Given the description of an element on the screen output the (x, y) to click on. 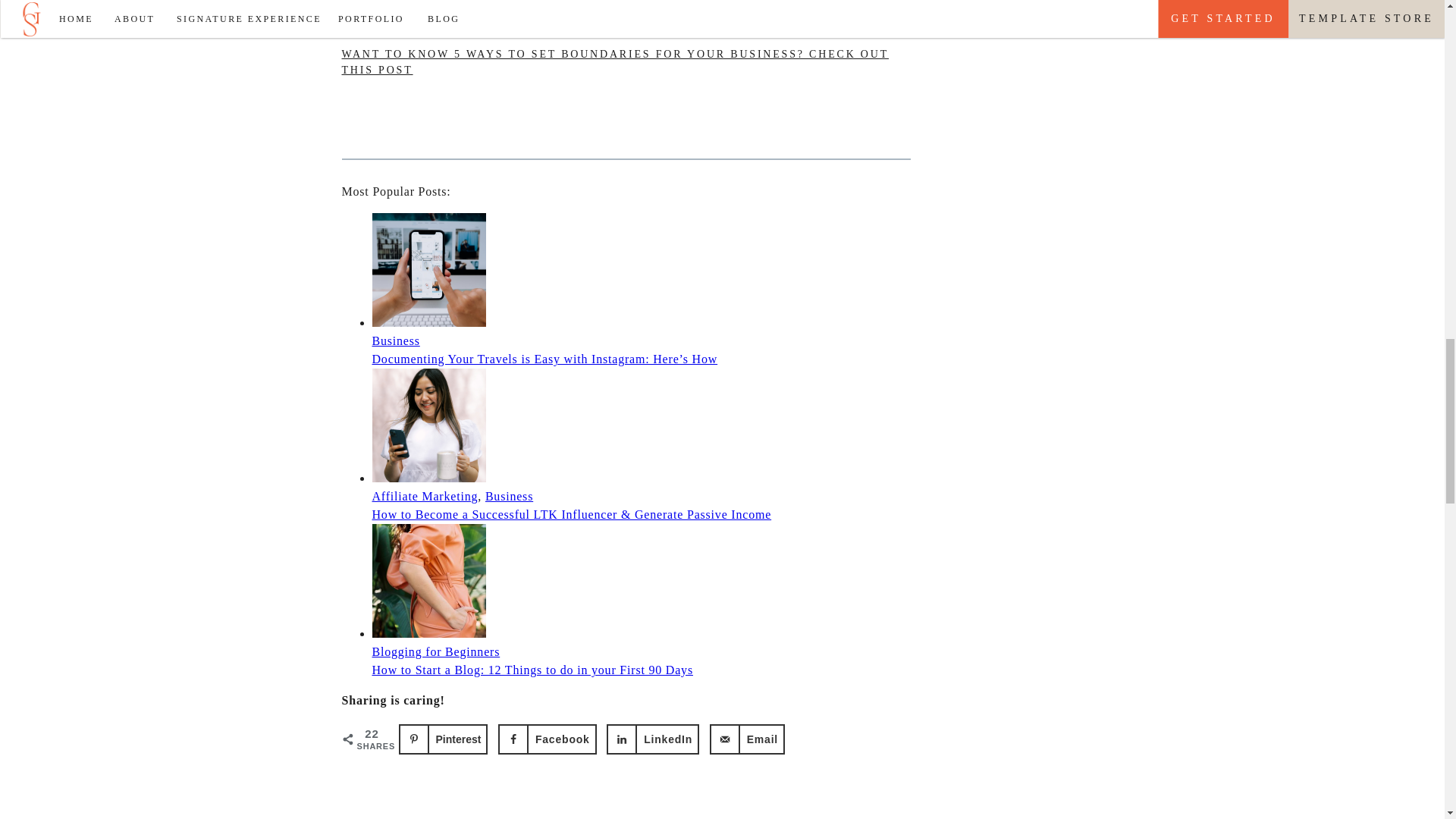
Email (747, 738)
Facebook (546, 738)
Save to Pinterest (442, 738)
Send over email (747, 738)
Share on Facebook (546, 738)
Share on LinkedIn (652, 738)
LinkedIn (652, 738)
Pinterest (442, 738)
